Given the description of an element on the screen output the (x, y) to click on. 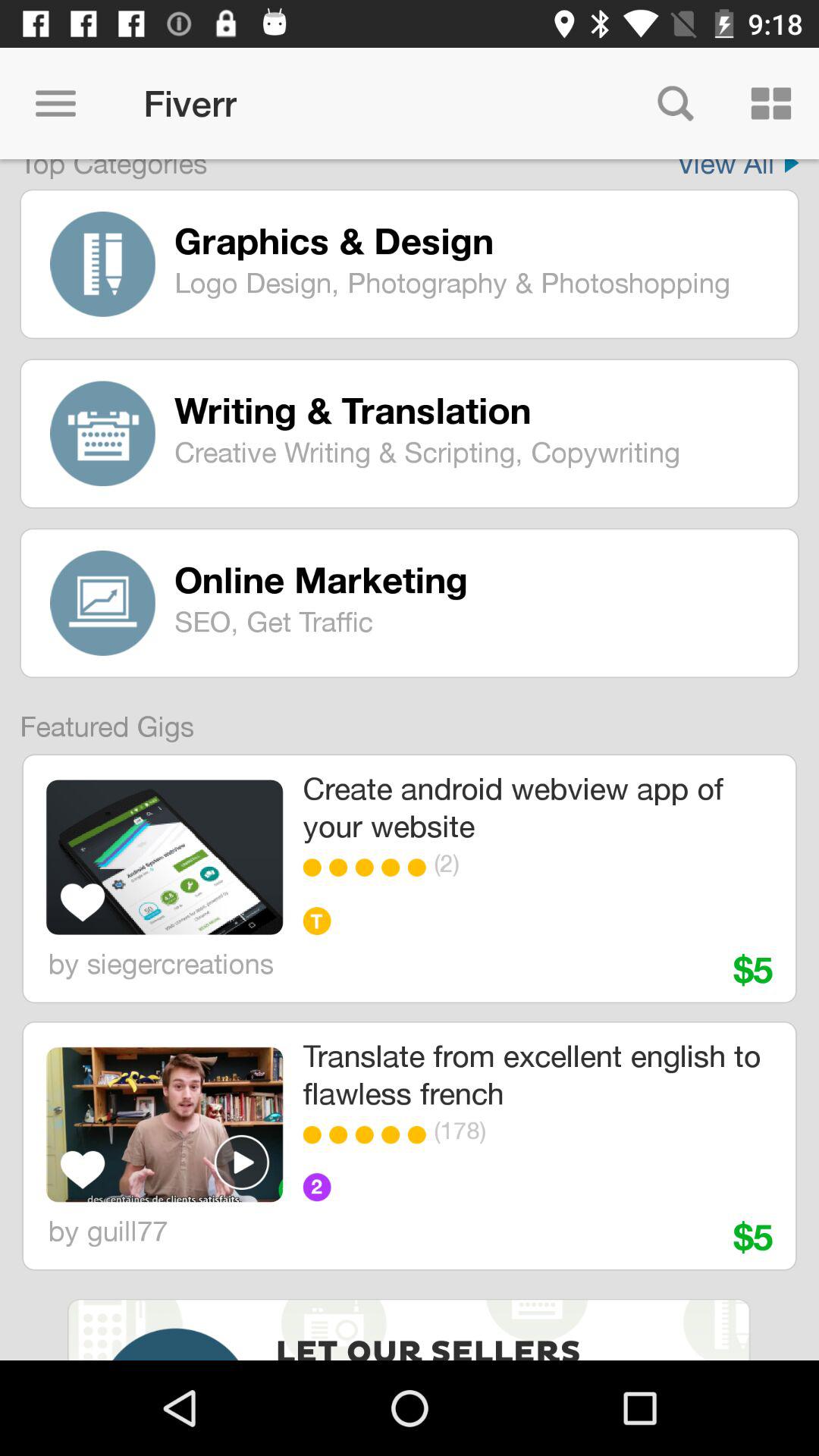
choose the item next to top categories item (738, 169)
